Given the description of an element on the screen output the (x, y) to click on. 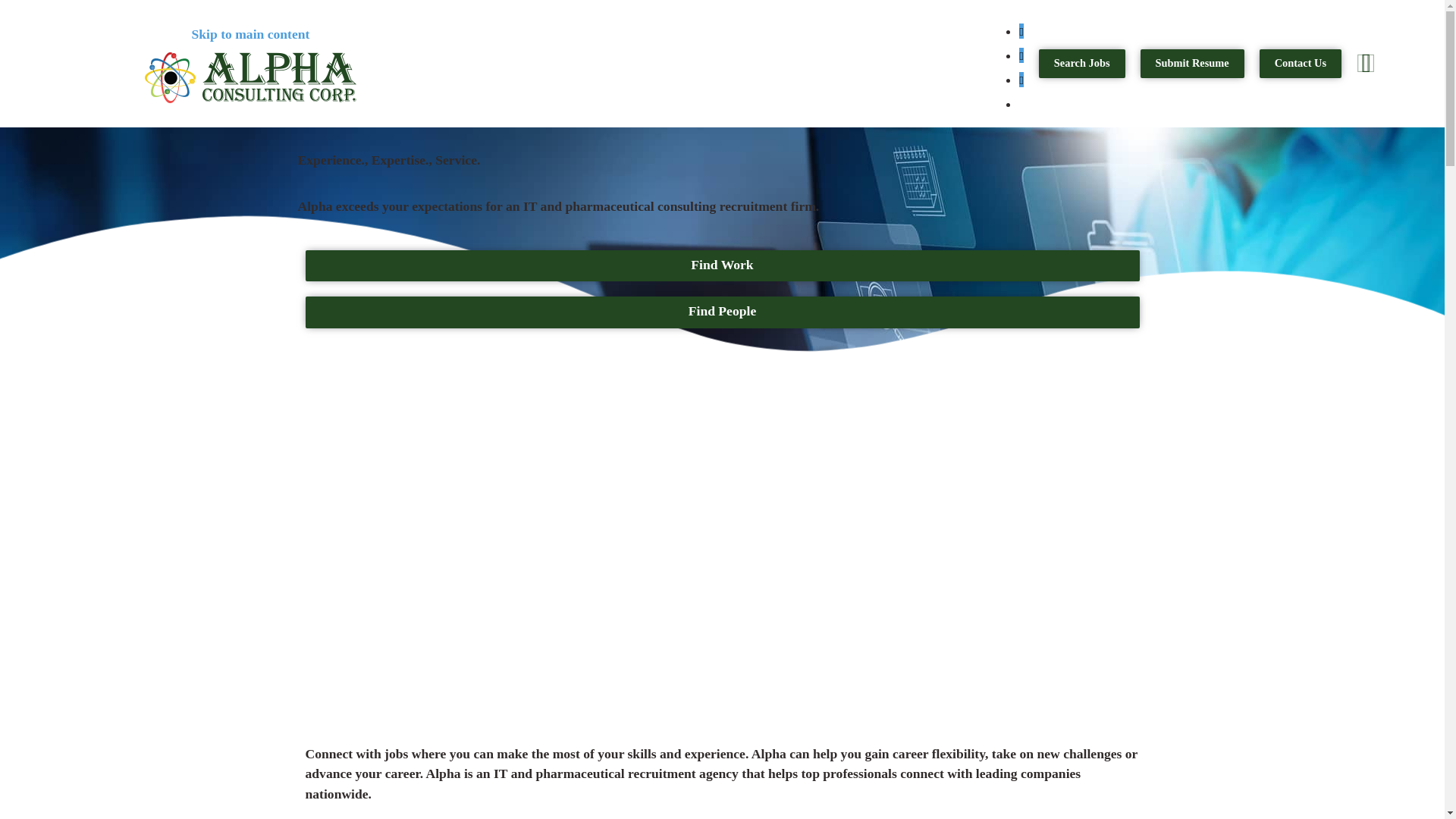
Search Jobs (1082, 63)
Submit Resume (1192, 63)
Skip to main content (249, 33)
Contact Us (1299, 63)
